Given the description of an element on the screen output the (x, y) to click on. 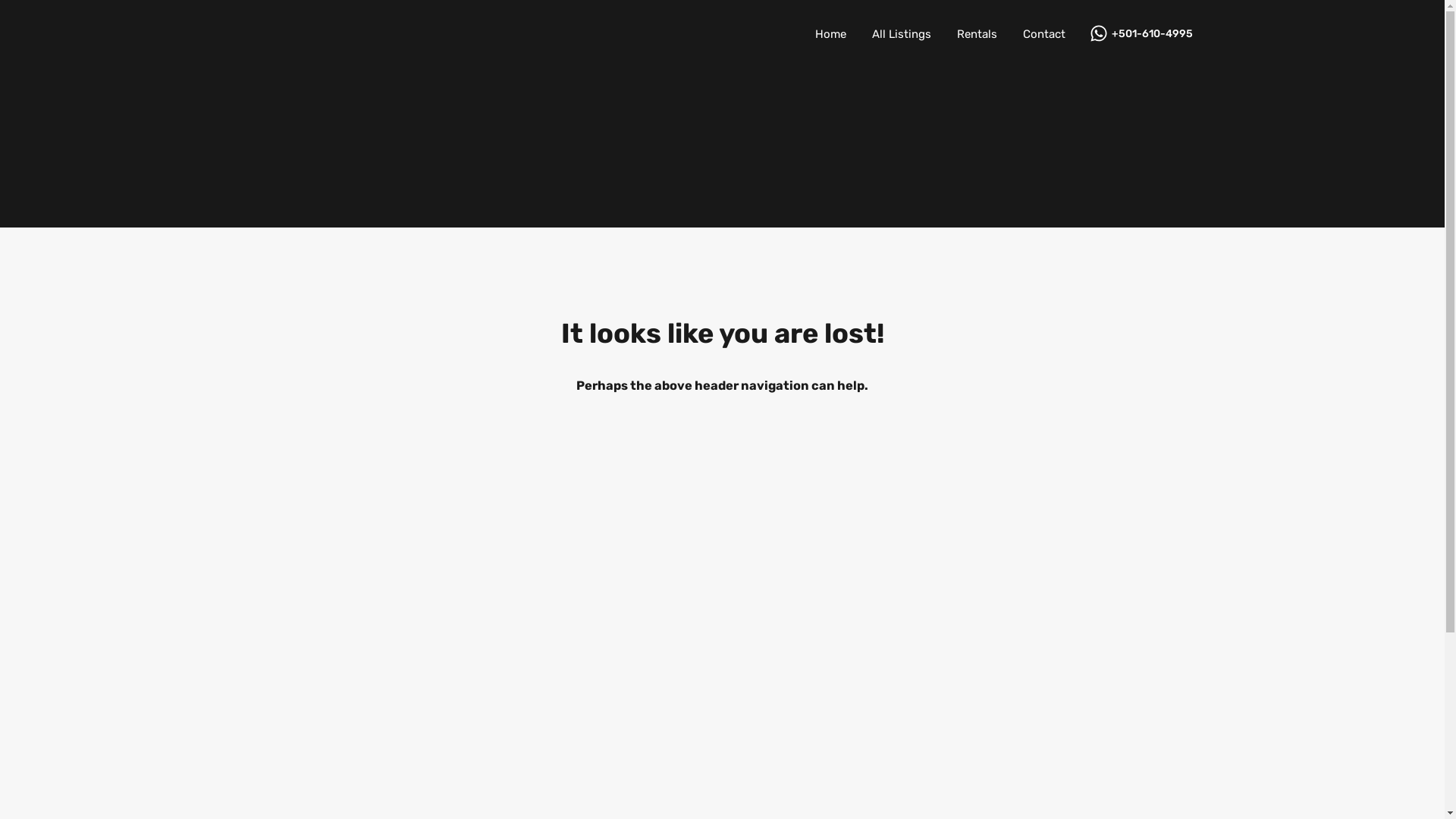
Sea Sure Real Estate Belize Element type: hover (251, 33)
+501-610-4995 Element type: text (1151, 34)
Contact Element type: text (1044, 34)
Home Element type: text (830, 34)
Rentals Element type: text (976, 34)
All Listings Element type: text (900, 34)
